Given the description of an element on the screen output the (x, y) to click on. 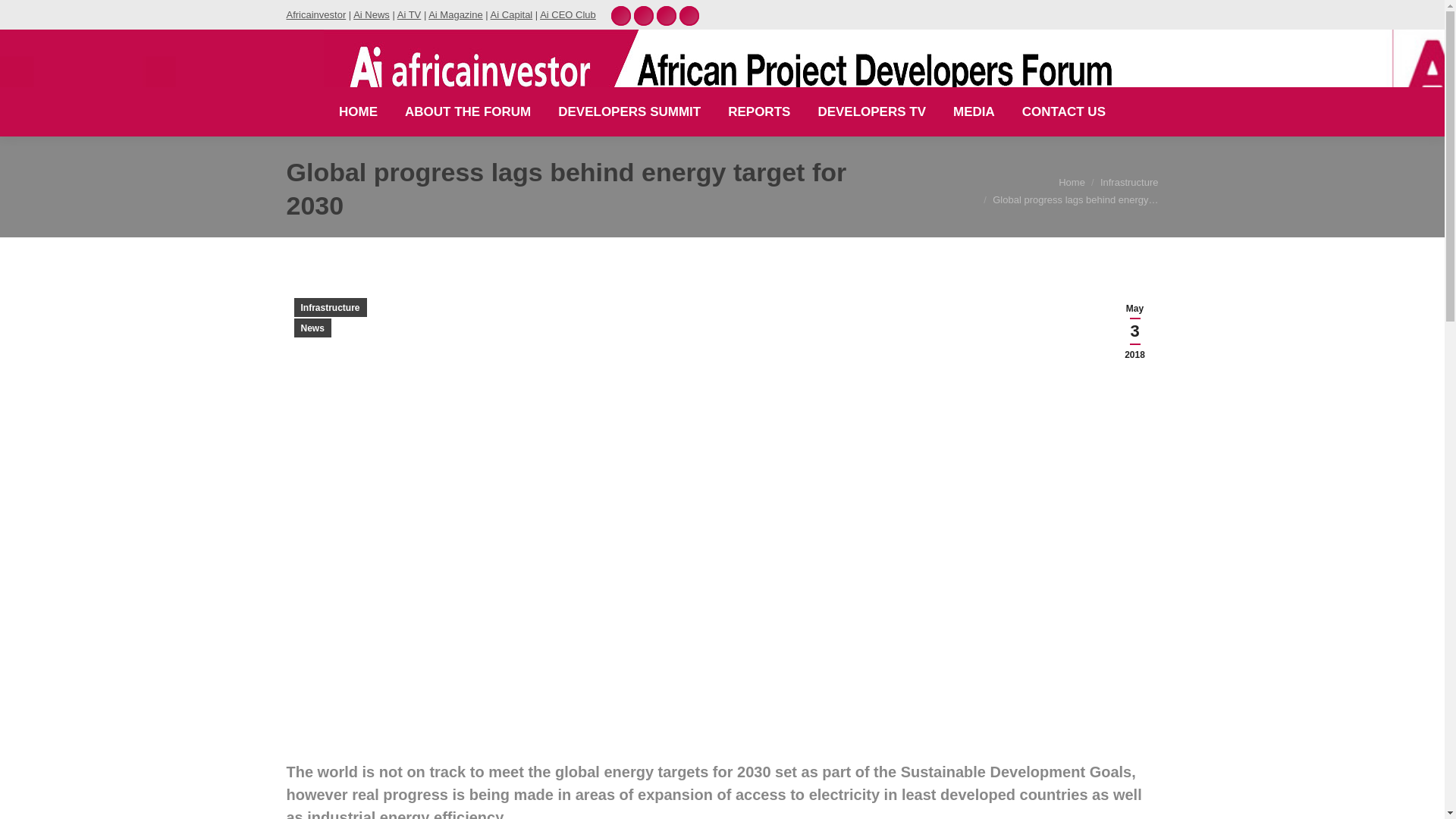
Ai CEO Club (567, 14)
Ai TV (409, 14)
Twitter page opens in new window (666, 15)
Pinterest page opens in new window (620, 15)
Twitter page opens in new window (666, 15)
ABOUT THE FORUM (467, 111)
REPORTS (759, 111)
MEDIA (973, 111)
Linkedin page opens in new window (643, 15)
Facebook page opens in new window (688, 15)
Ai Capital (511, 14)
Ai Magazine (455, 14)
DEVELOPERS SUMMIT (628, 111)
HOME (358, 111)
Africainvestor (316, 14)
